Given the description of an element on the screen output the (x, y) to click on. 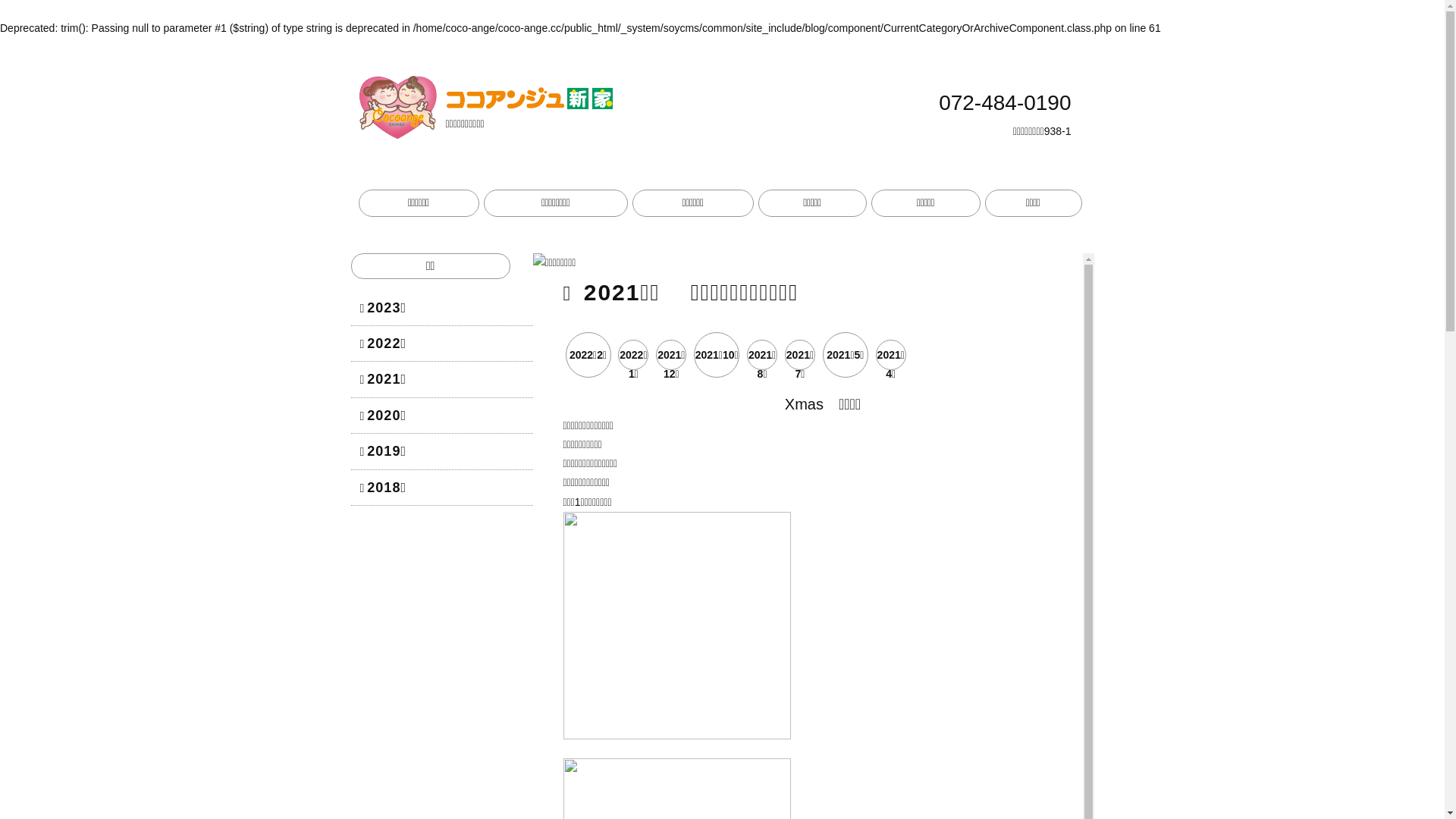
072-484-0190 Element type: text (1000, 114)
